Given the description of an element on the screen output the (x, y) to click on. 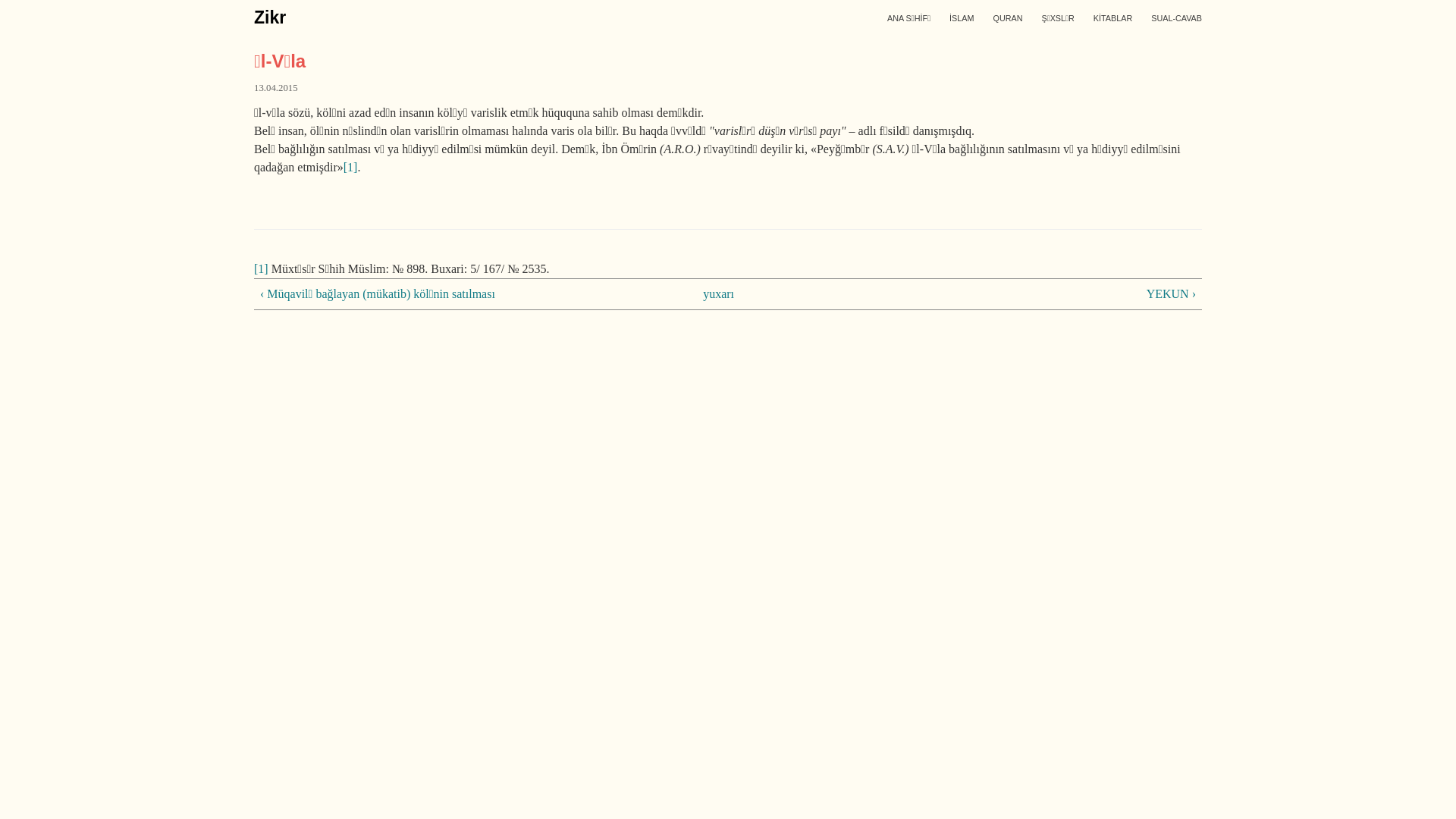
[1] Element type: text (261, 268)
SUAL-CAVAB Element type: text (1176, 18)
QURAN Element type: text (1007, 18)
[1] Element type: text (350, 166)
Zikr Element type: text (269, 17)
